Given the description of an element on the screen output the (x, y) to click on. 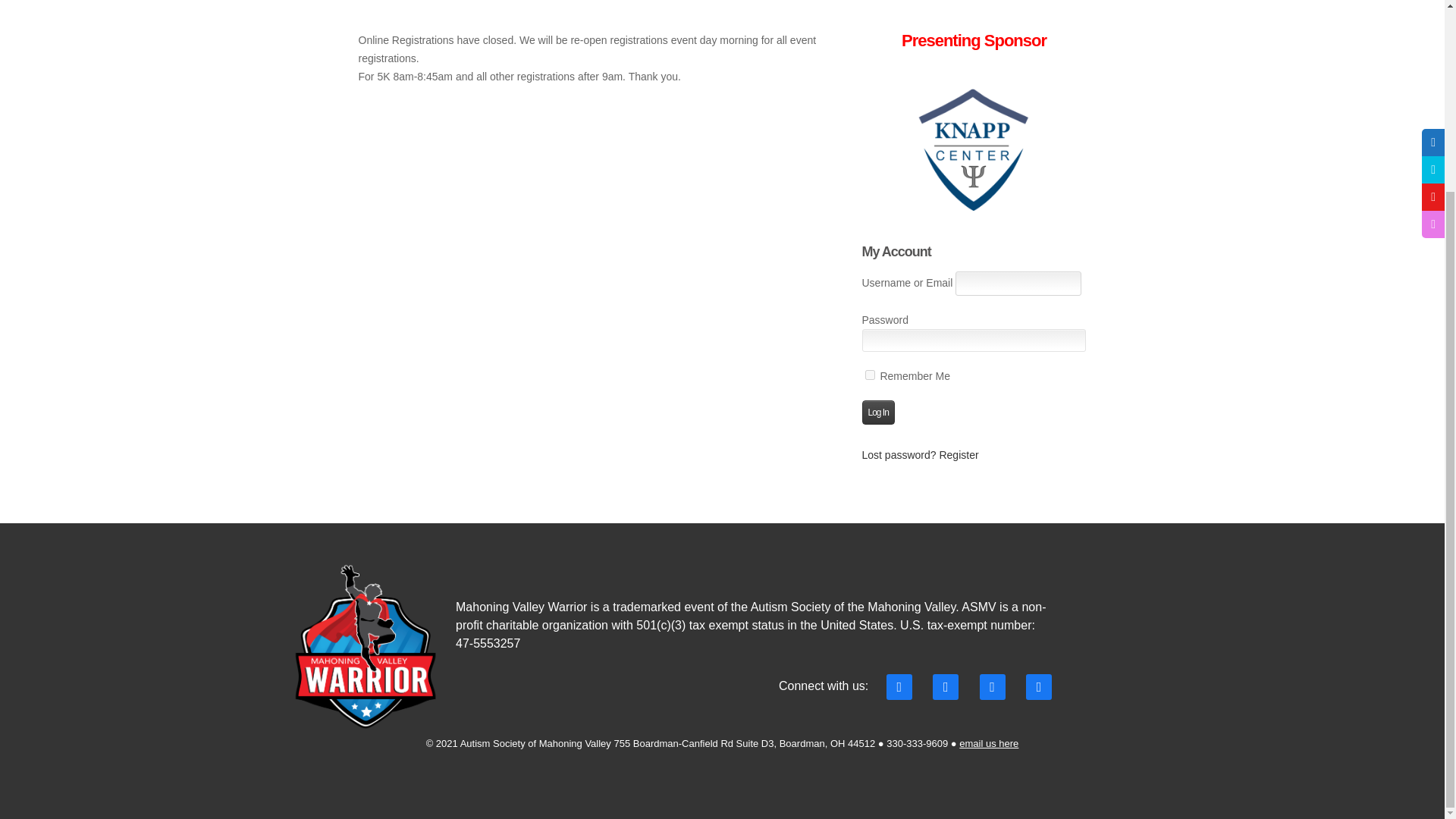
instagram (1038, 686)
forever (869, 375)
email us here (988, 743)
twitter (945, 686)
Lost password? (898, 454)
Register (958, 454)
youtube (992, 686)
330-333-9609 (916, 743)
Register (958, 454)
Log In (877, 412)
Log In (877, 412)
facebook (899, 686)
